Given the description of an element on the screen output the (x, y) to click on. 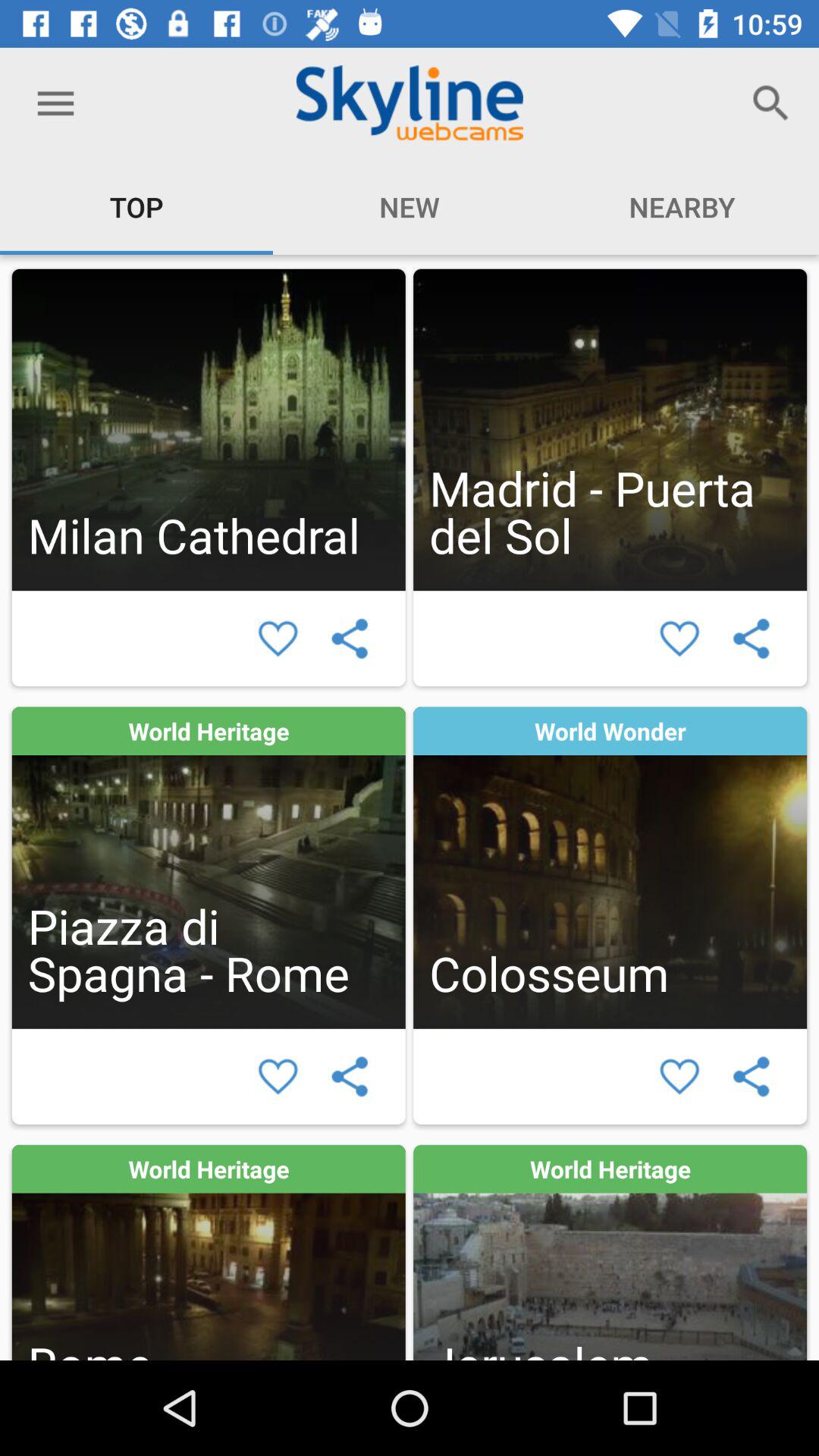
view location (610, 867)
